Given the description of an element on the screen output the (x, y) to click on. 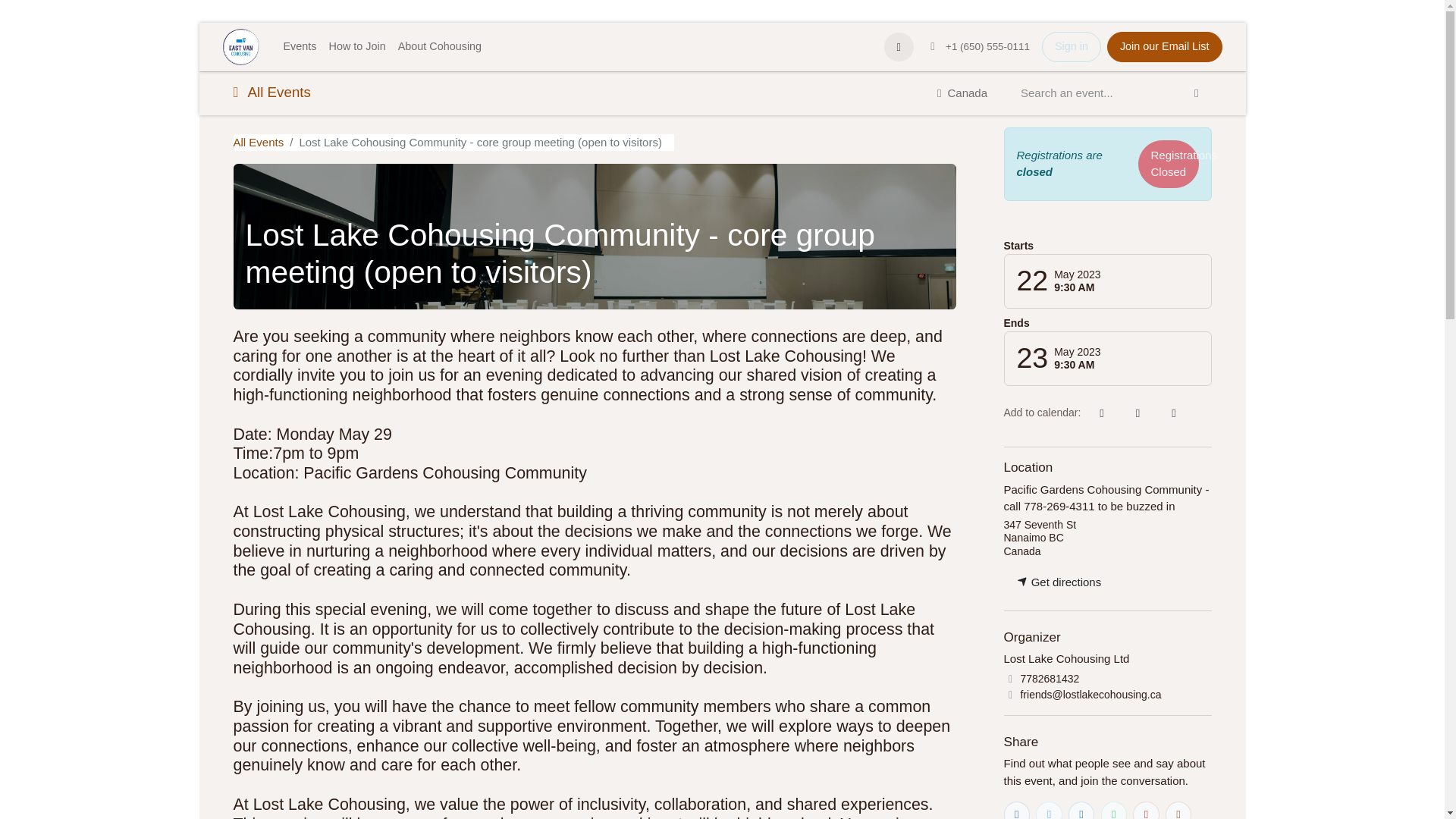
Back to All Events (257, 141)
Add to iCal (1101, 412)
Registrations Closed (1168, 163)
Sign in (1071, 46)
Events (300, 46)
Get directions (1059, 582)
Get directions (1059, 582)
All Events (271, 92)
Add to Outlook (1137, 412)
Join our Email List (1164, 46)
How to Join (357, 46)
Add to Google (1173, 412)
All Events (257, 141)
Canada (962, 93)
Search (1195, 92)
